Given the description of an element on the screen output the (x, y) to click on. 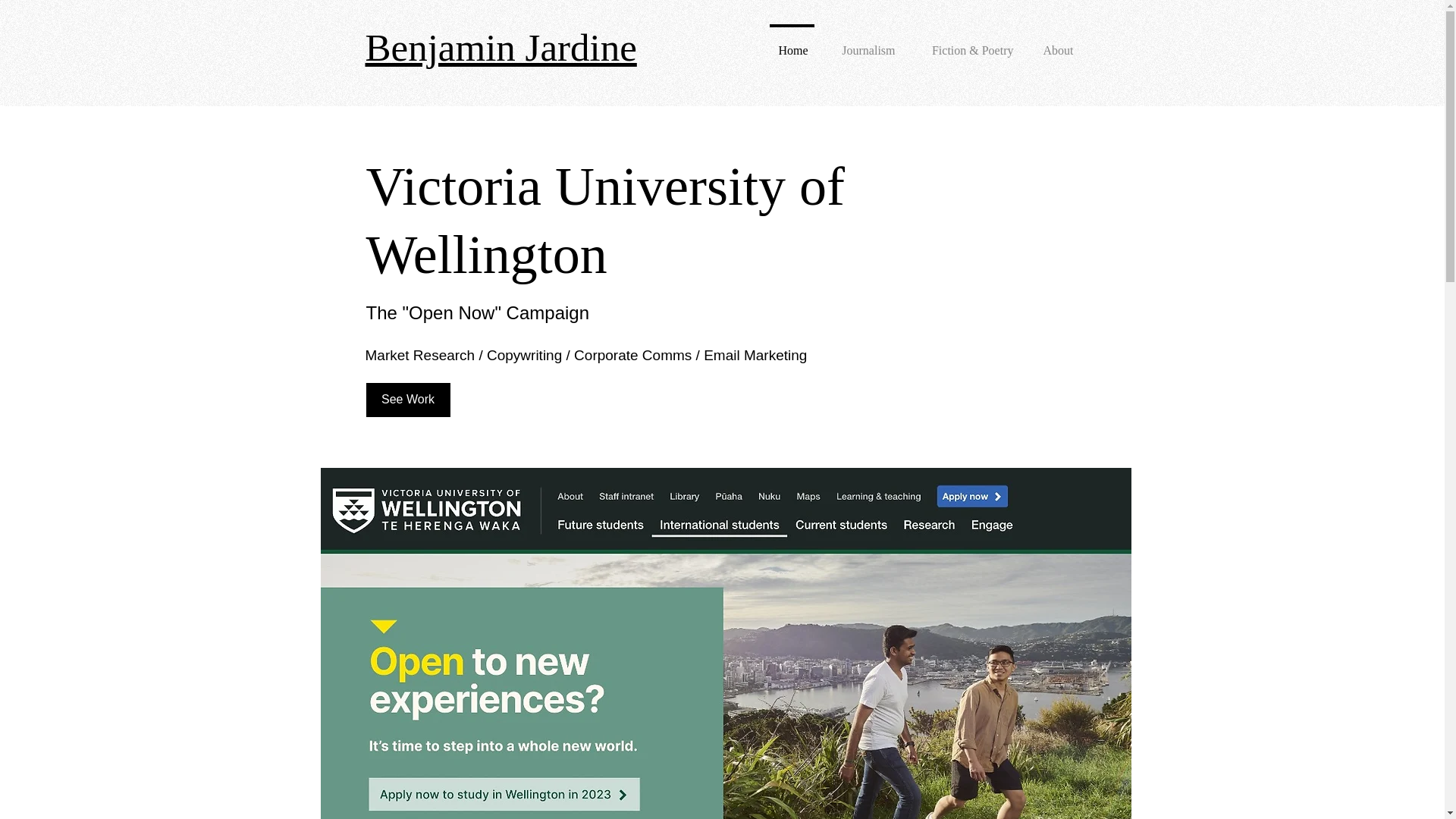
Benjamin Jardine (501, 47)
Home (791, 43)
See Work (407, 399)
About (1056, 43)
Journalism (865, 43)
